Given the description of an element on the screen output the (x, y) to click on. 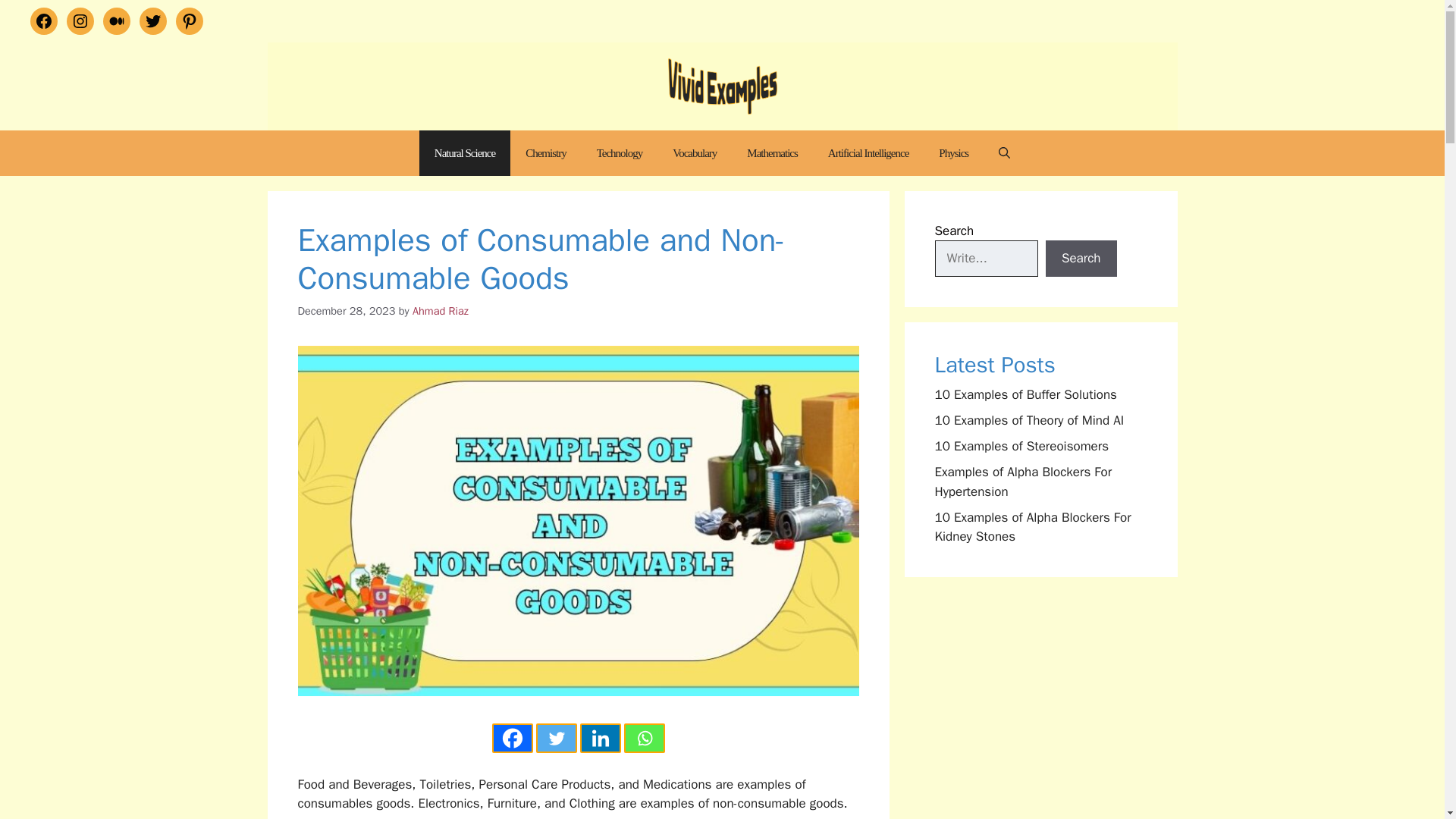
Linkedin (599, 737)
View all posts by Ahmad Riaz (440, 310)
Medium (117, 21)
Natural Science (465, 153)
Pinterest (189, 21)
Instagram (80, 21)
Twitter (555, 737)
Mathematics (772, 153)
Technology (619, 153)
Facebook (512, 737)
Artificial Intelligence (868, 153)
Ahmad Riaz (440, 310)
Physics (953, 153)
Twitter (153, 21)
Chemistry (545, 153)
